Given the description of an element on the screen output the (x, y) to click on. 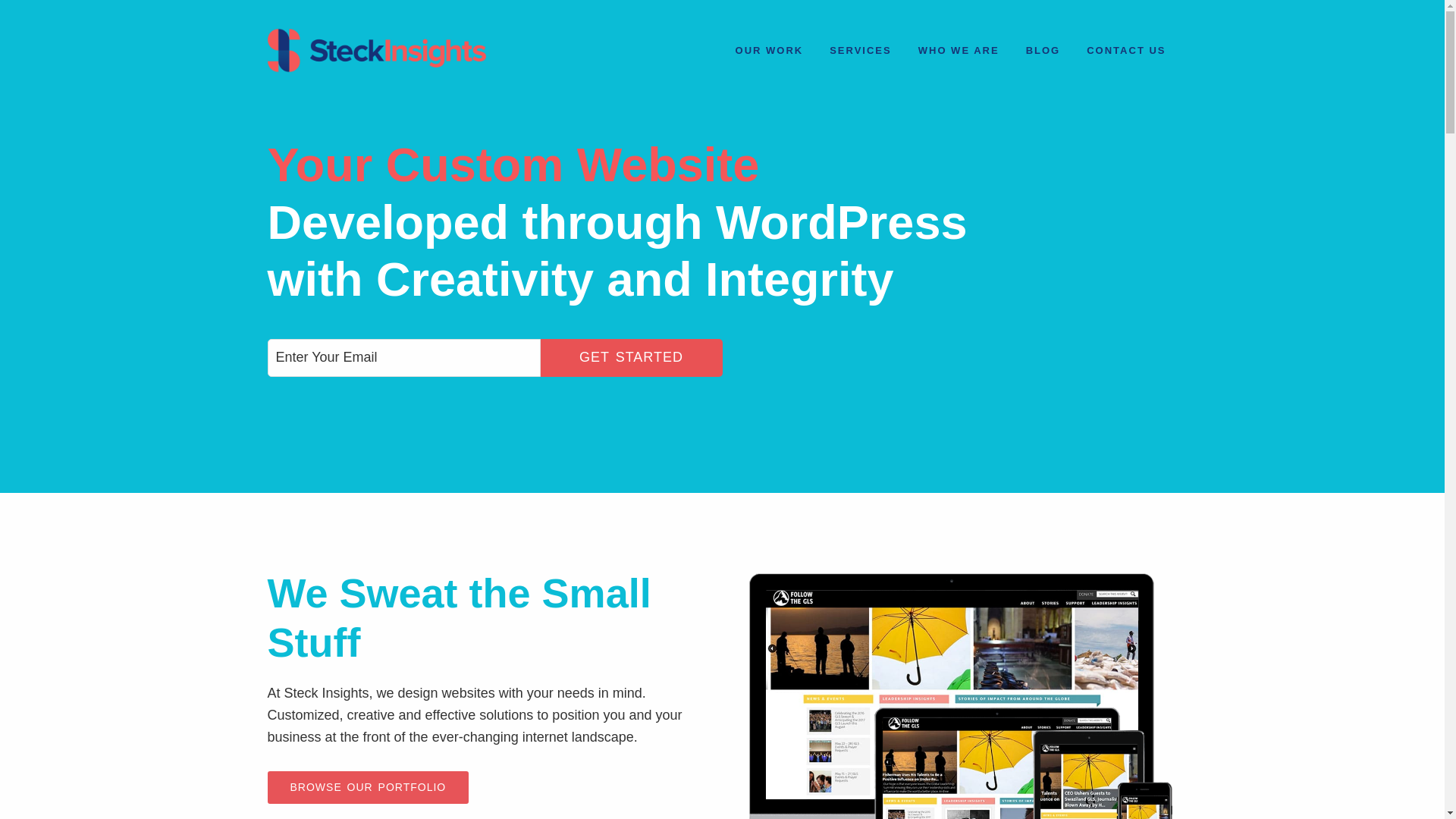
CONTACT US (1125, 49)
SERVICES (860, 49)
WHO WE ARE (958, 49)
Get Started (631, 357)
Get Started (631, 557)
OUR WORK (769, 49)
BLOG (1042, 49)
